Given the description of an element on the screen output the (x, y) to click on. 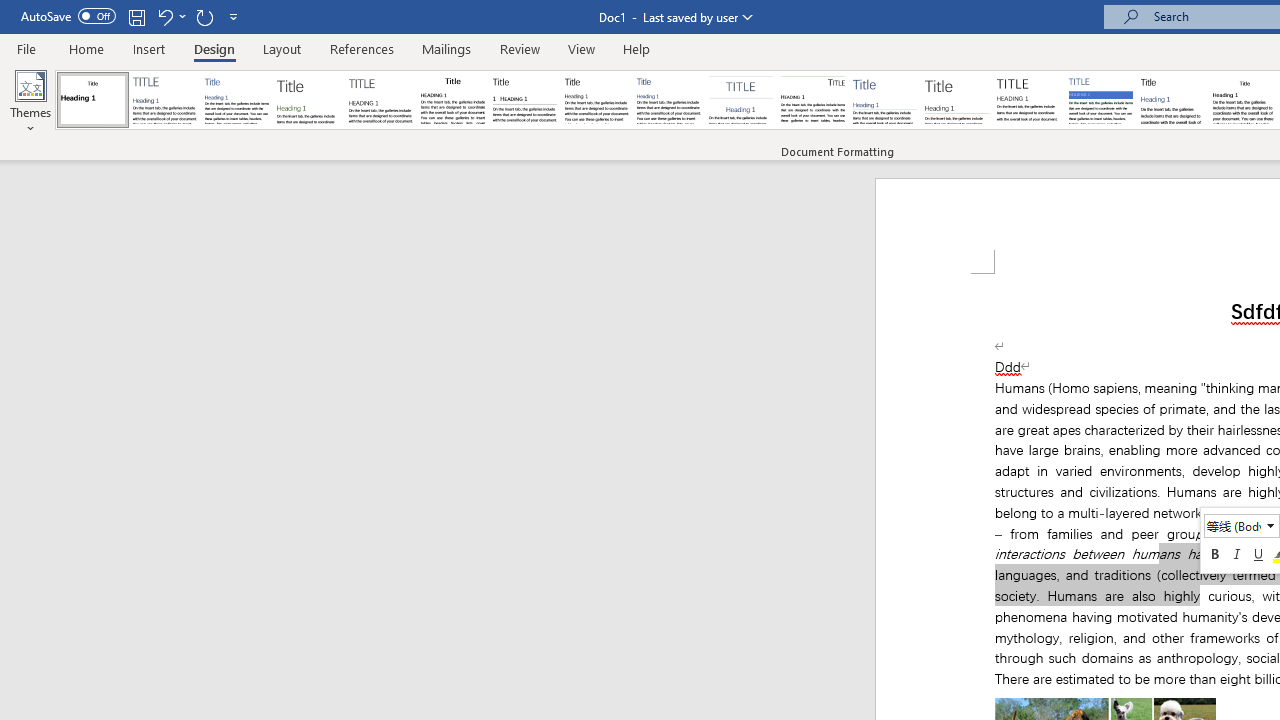
Lines (Stylish) (957, 100)
Word (1172, 100)
Class: NetUITextbox (1233, 525)
Black & White (Classic) (452, 100)
Basic (Simple) (236, 100)
Lines (Distinctive) (812, 100)
Lines (Simple) (884, 100)
Minimalist (1028, 100)
Undo Italic (170, 15)
